Given the description of an element on the screen output the (x, y) to click on. 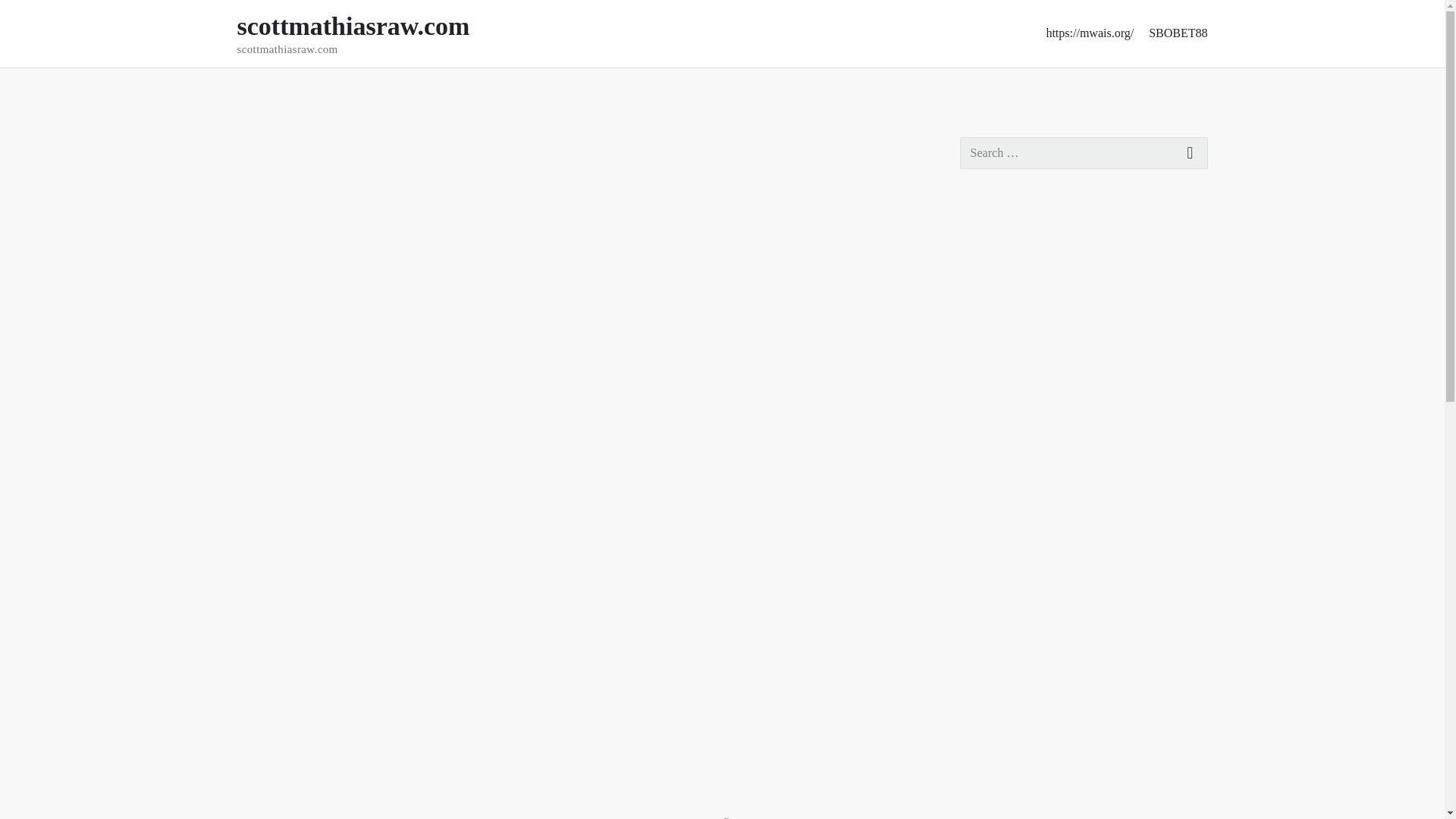
April 2023 (987, 740)
Home (250, 89)
July 2023 (984, 642)
December 2023 (1000, 479)
March 2024 (990, 381)
July 2024 (984, 251)
February 2023 (997, 805)
May 2023 (985, 707)
scottmathiasraw (355, 145)
Sunday, October 30, 2022, 2:35 am (265, 145)
Search for: (1083, 152)
January 2024 (993, 446)
February 2024 (997, 414)
Posts by scottmathiasraw (355, 145)
April 2024 (987, 349)
